Given the description of an element on the screen output the (x, y) to click on. 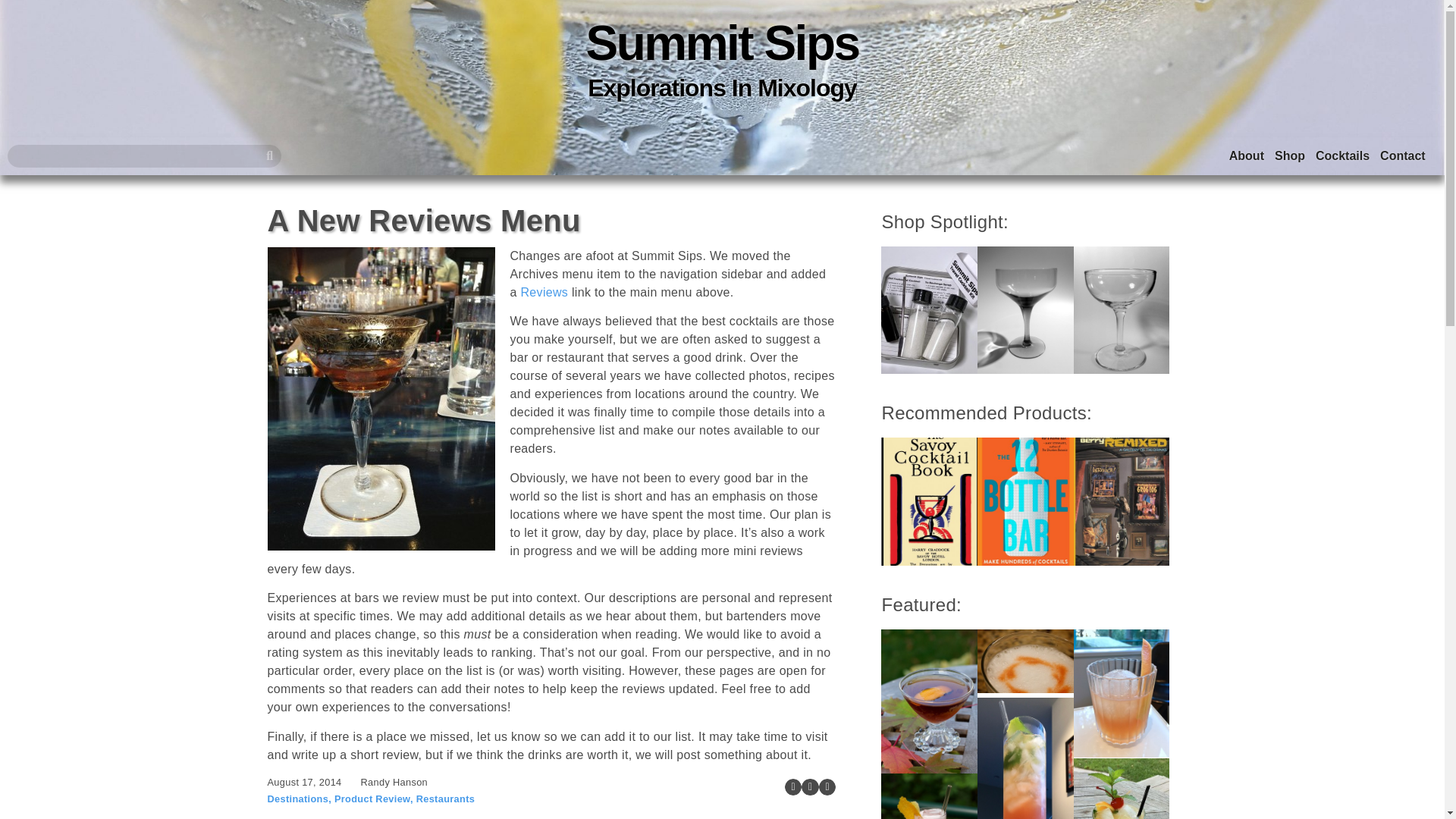
Randy Hanson (394, 781)
About (1245, 155)
Cocktails (1343, 155)
Restaurants (445, 798)
Shop (1289, 155)
Summit Sips (722, 42)
Reviews (543, 291)
Reviews (543, 291)
Contact (1402, 155)
August 17, 2014 (303, 781)
Destinations (297, 798)
Product Review (372, 798)
